Given the description of an element on the screen output the (x, y) to click on. 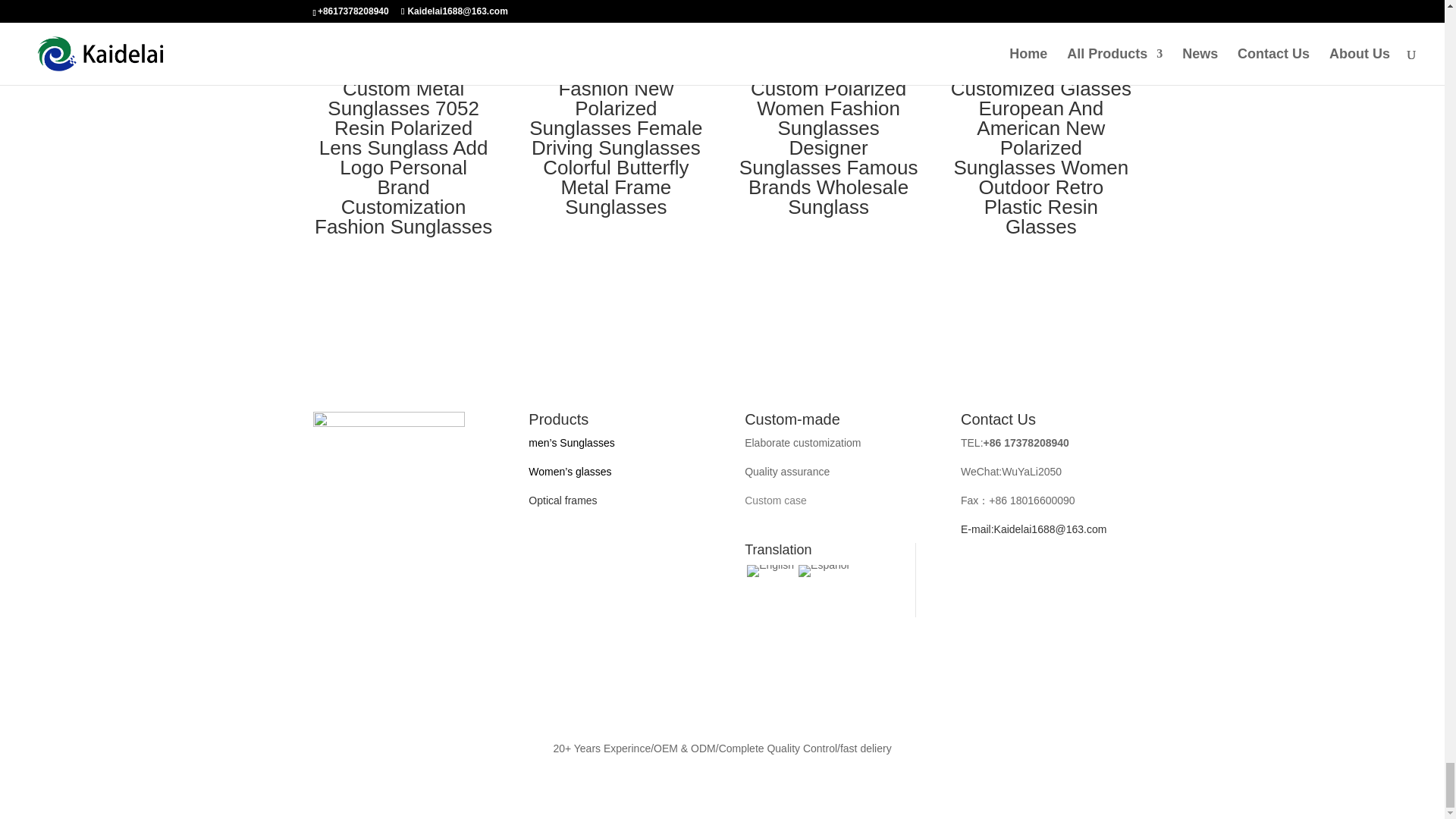
Optical frames (562, 500)
English (770, 571)
Custom case (775, 500)
